Given the description of an element on the screen output the (x, y) to click on. 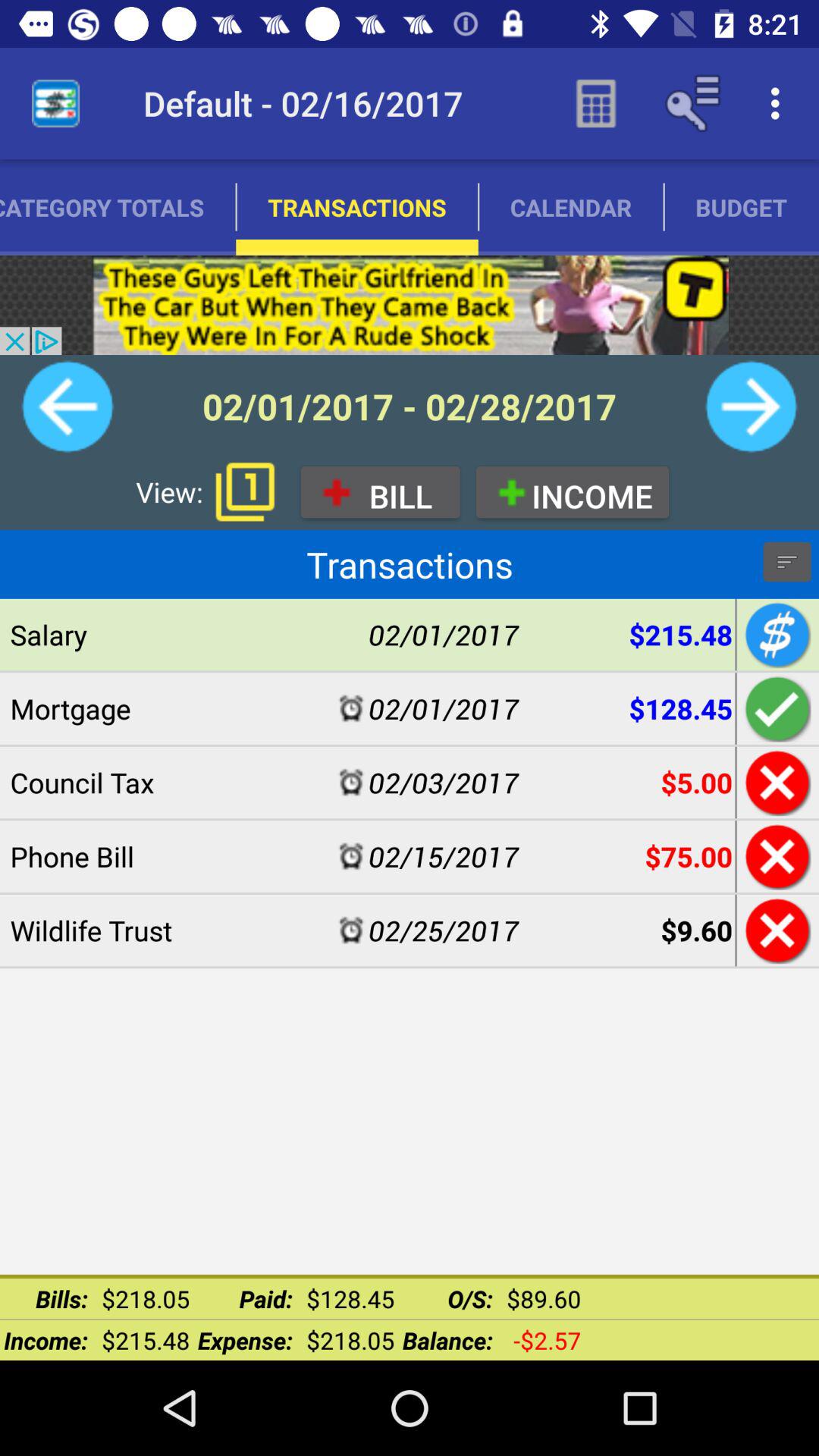
view page 1 (244, 491)
